Given the description of an element on the screen output the (x, y) to click on. 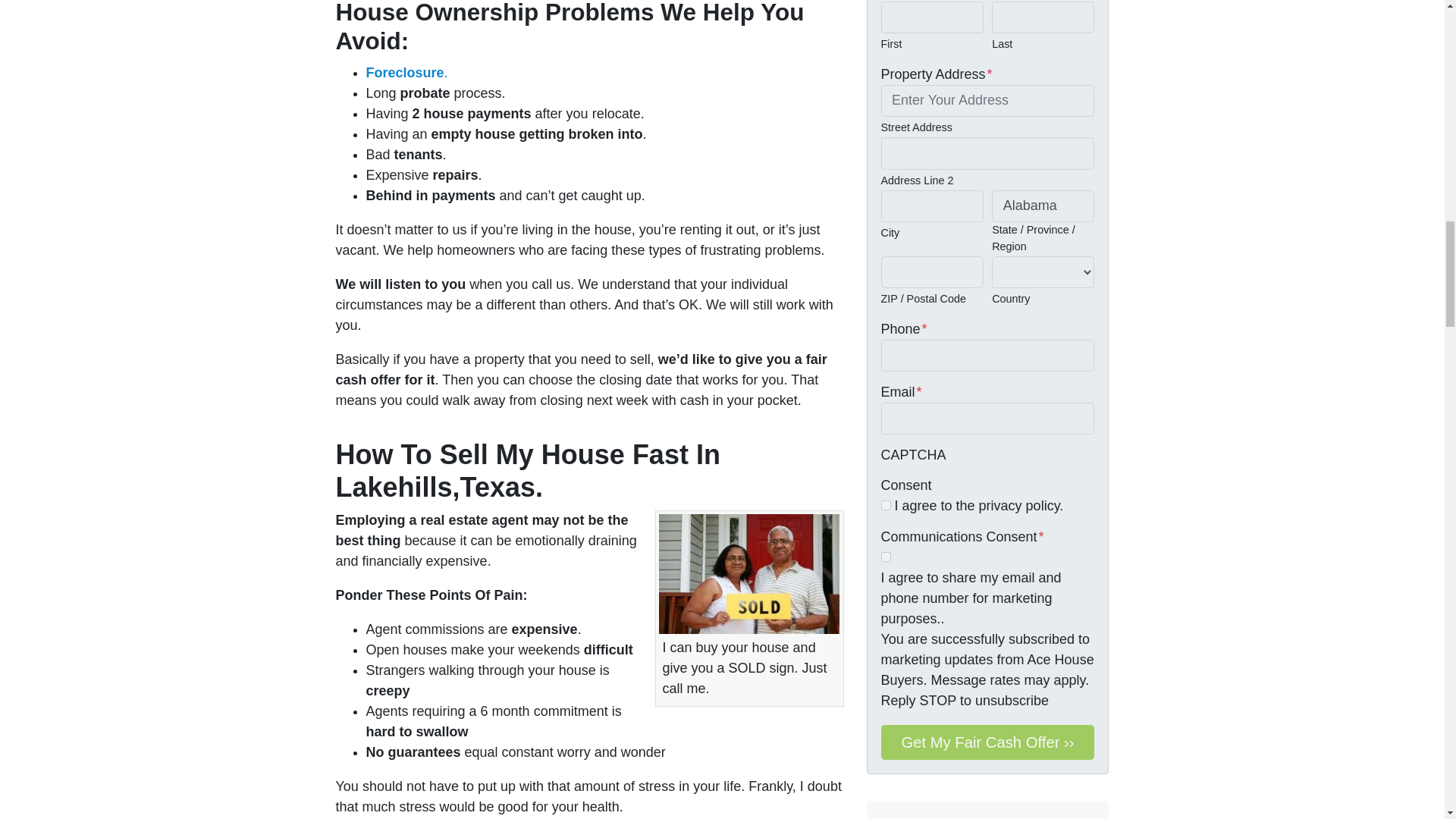
Foreclosure. (405, 72)
